Given the description of an element on the screen output the (x, y) to click on. 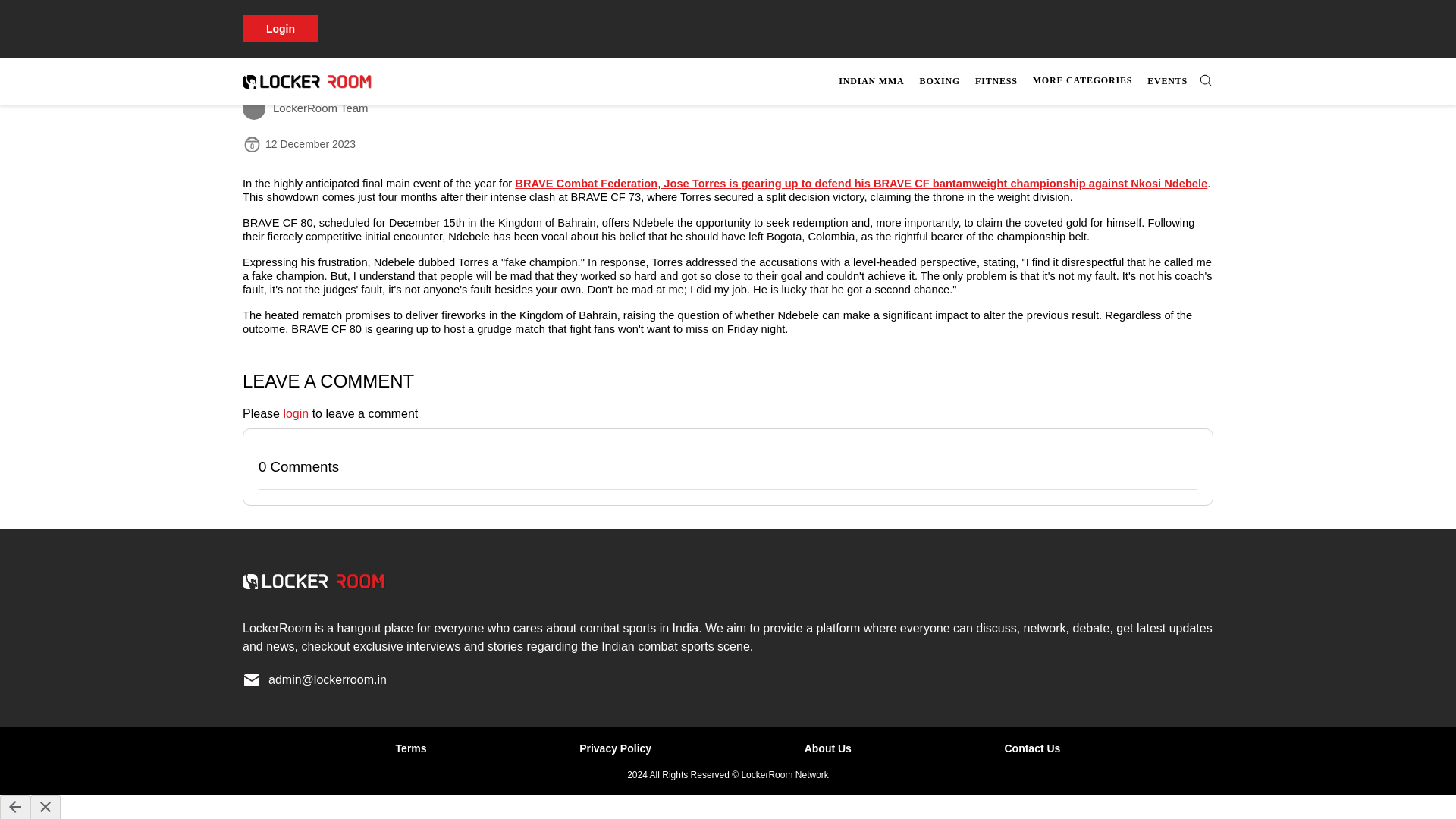
BRAVE Combat Federation (586, 183)
